Given the description of an element on the screen output the (x, y) to click on. 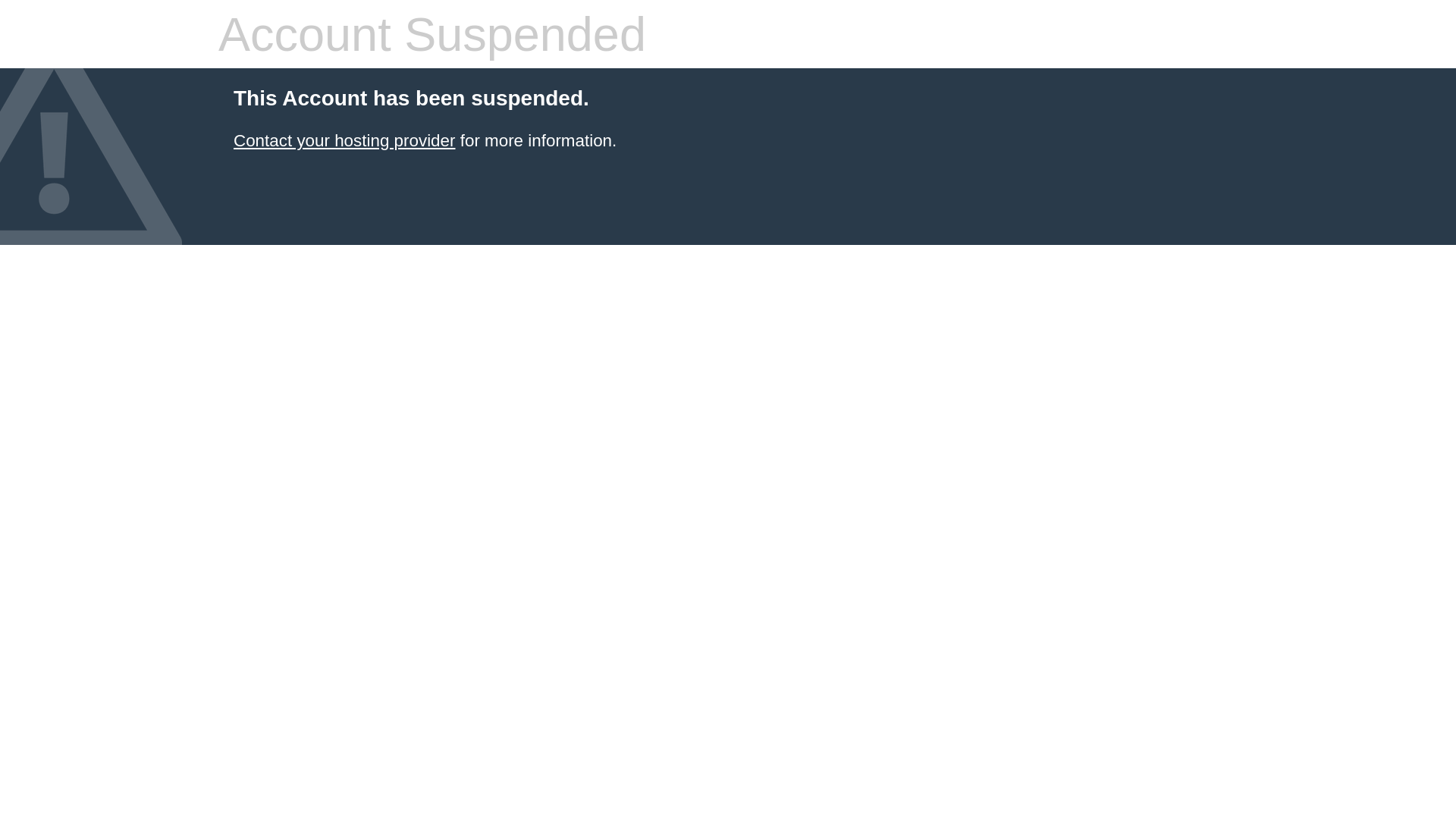
Contact your hosting provider Element type: text (344, 140)
